Given the description of an element on the screen output the (x, y) to click on. 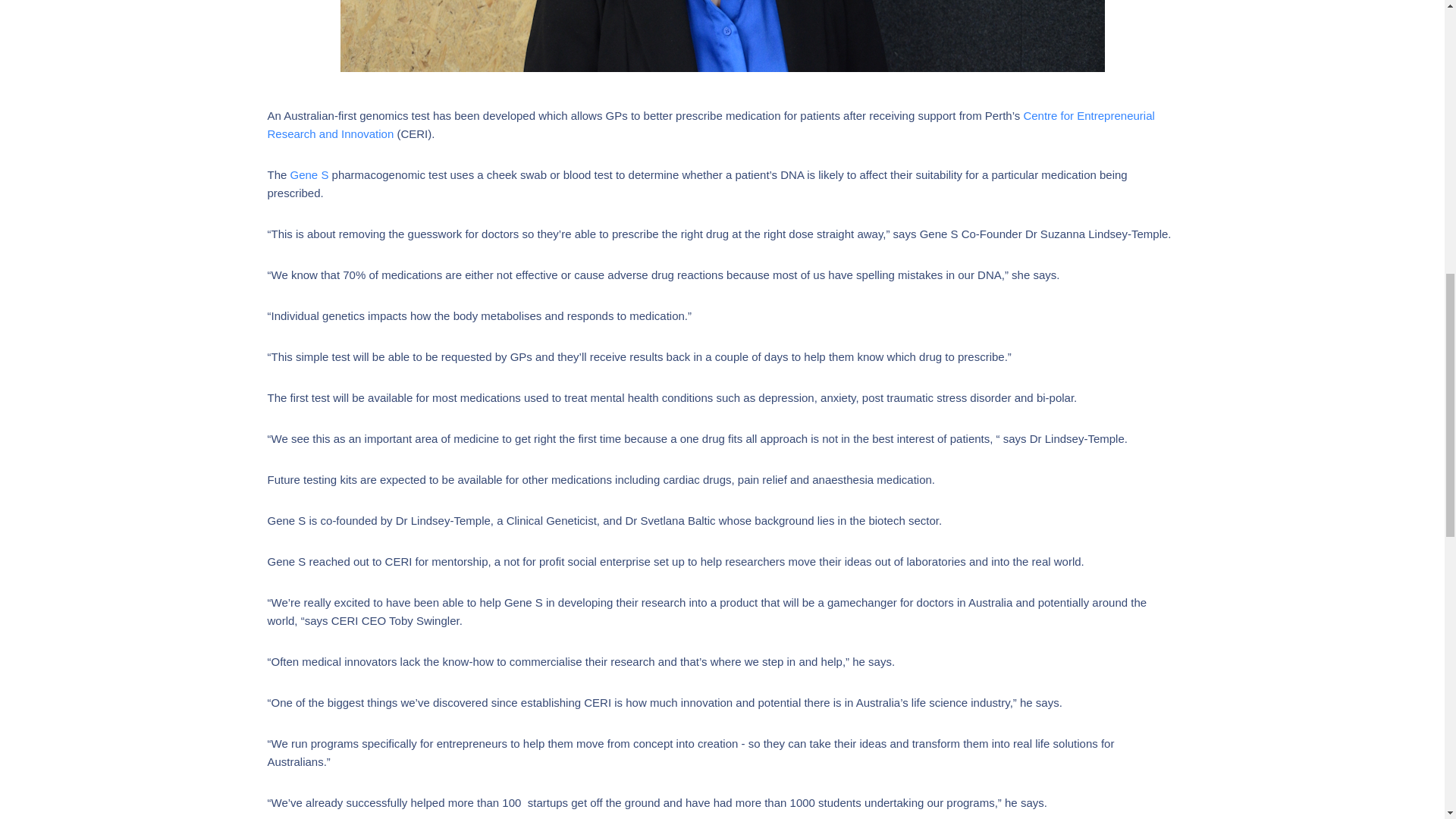
Gene S (309, 174)
Centre for Entrepreneurial Research and Innovation (710, 124)
